Given the description of an element on the screen output the (x, y) to click on. 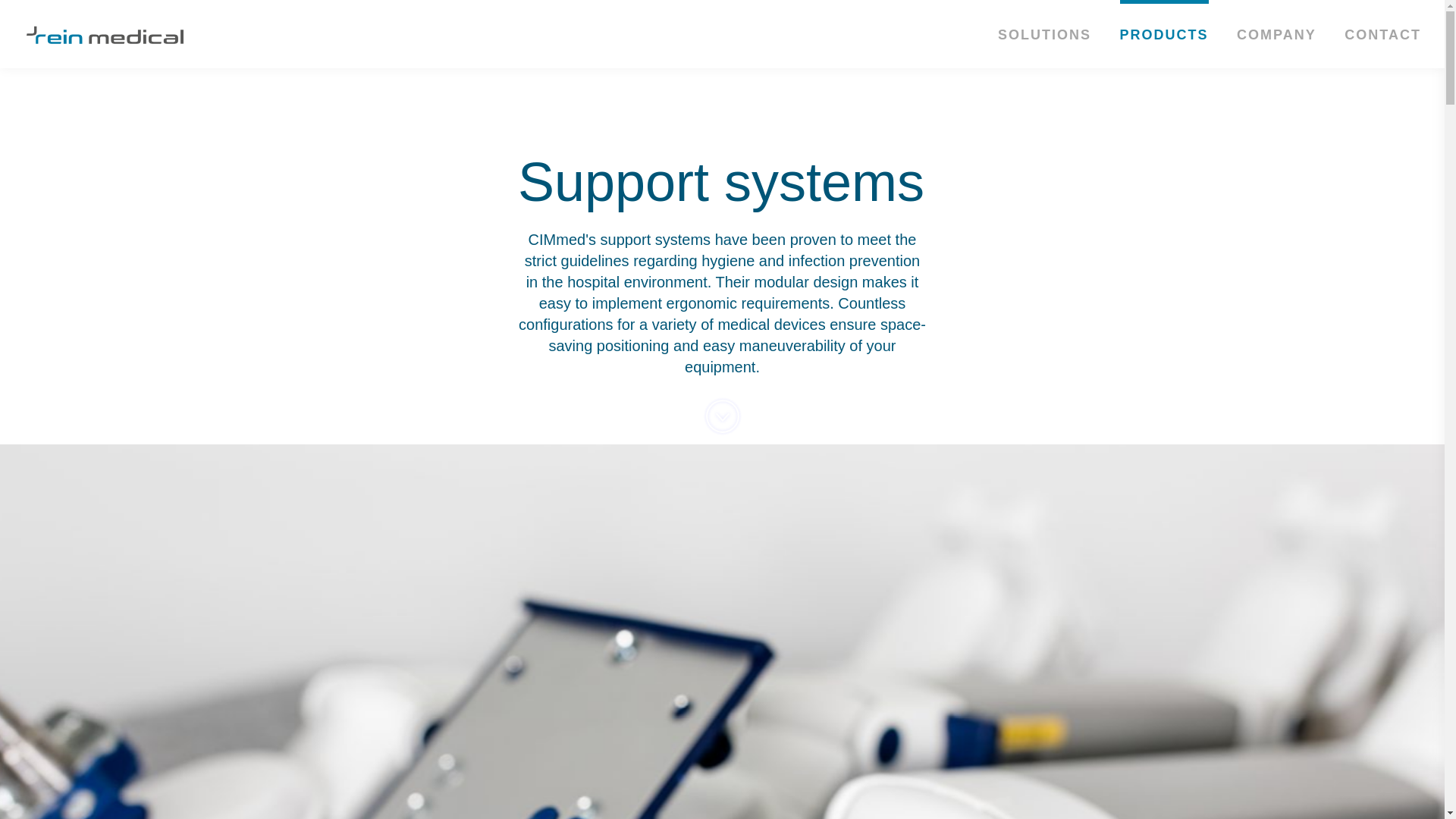
CONTACT (1382, 34)
Home (104, 34)
PRODUCTS (1163, 34)
SOLUTIONS (1043, 34)
COMPANY (1276, 34)
